Given the description of an element on the screen output the (x, y) to click on. 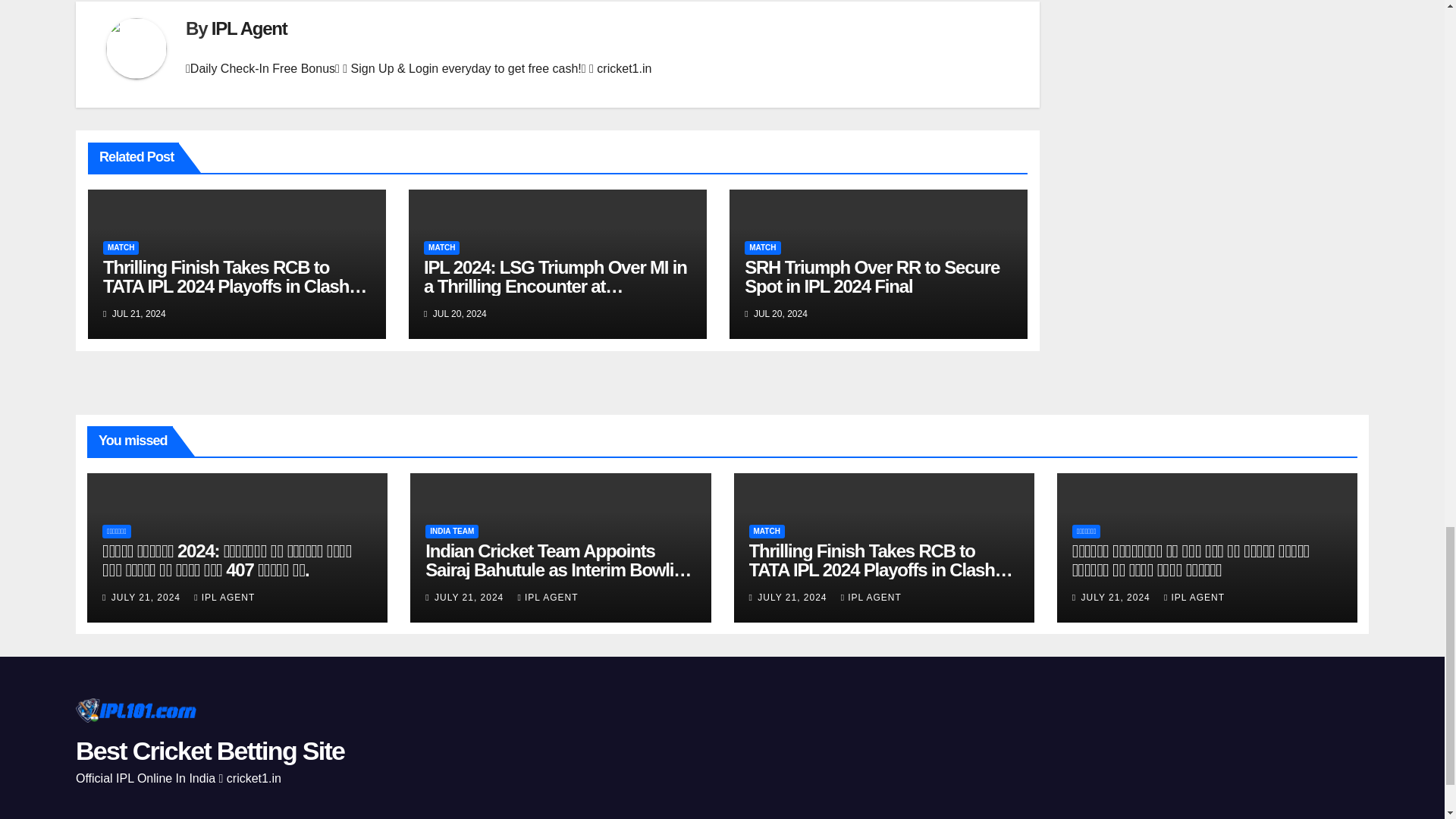
IPL Agent (248, 28)
